Given the description of an element on the screen output the (x, y) to click on. 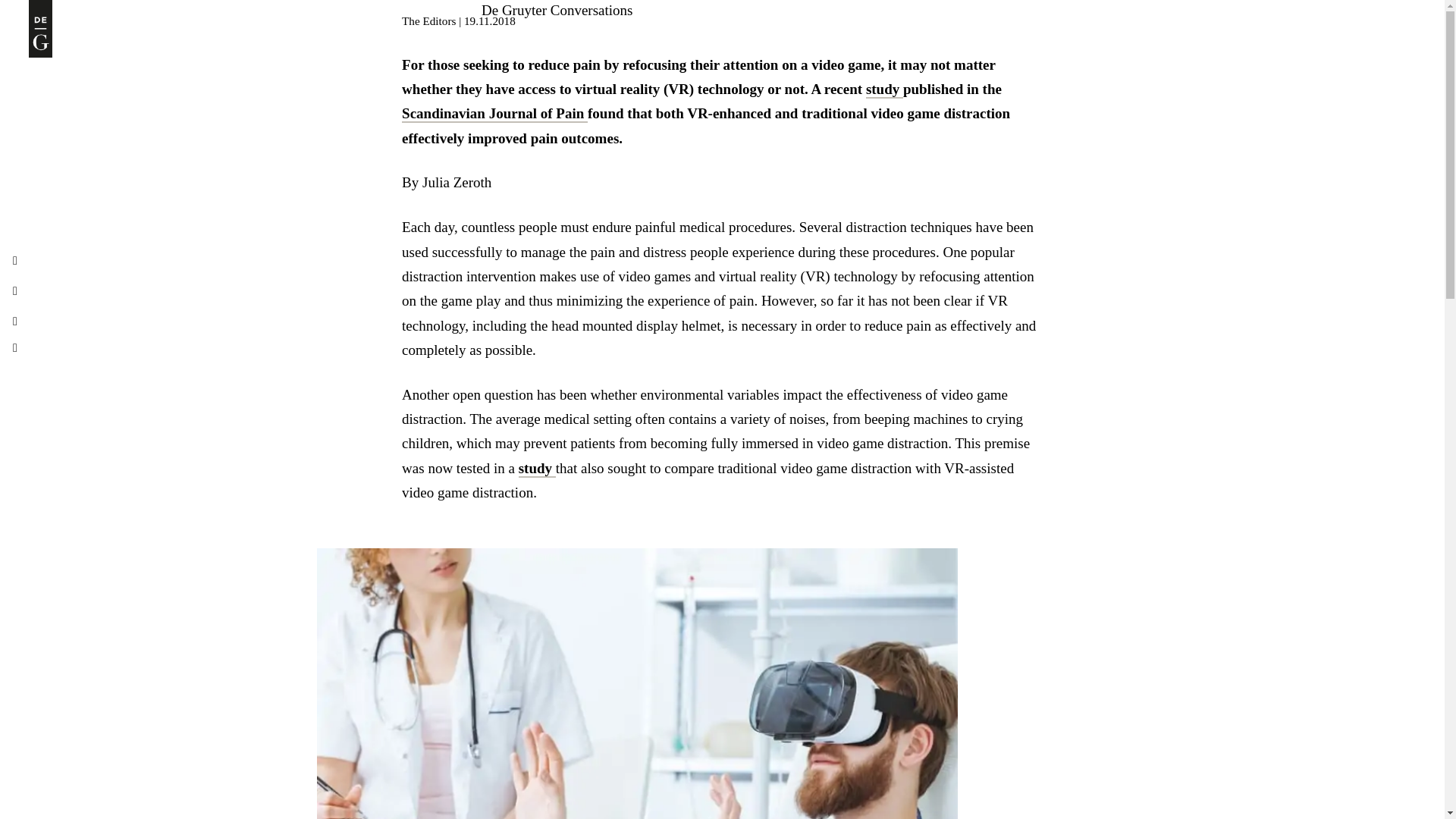
study (537, 468)
De Gruyter Conversations (556, 10)
Scandinavian Journal of Pain (494, 113)
study (884, 89)
